Given the description of an element on the screen output the (x, y) to click on. 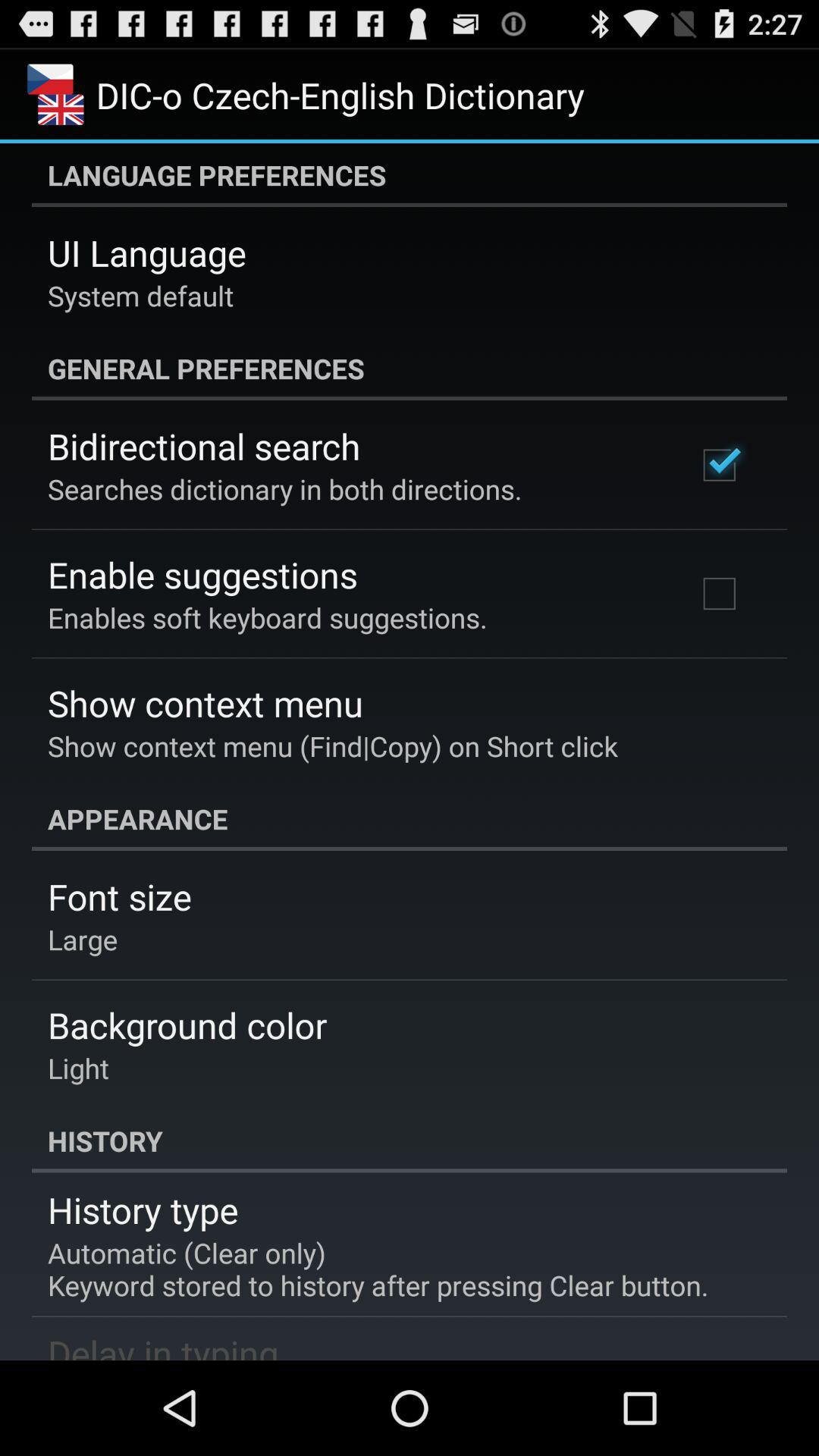
launch large (82, 939)
